Given the description of an element on the screen output the (x, y) to click on. 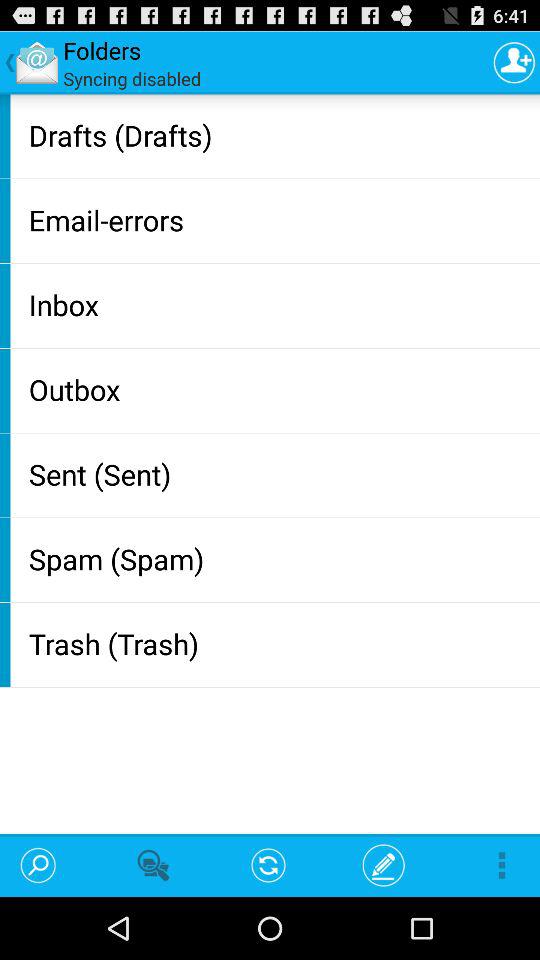
sync login (514, 62)
